Given the description of an element on the screen output the (x, y) to click on. 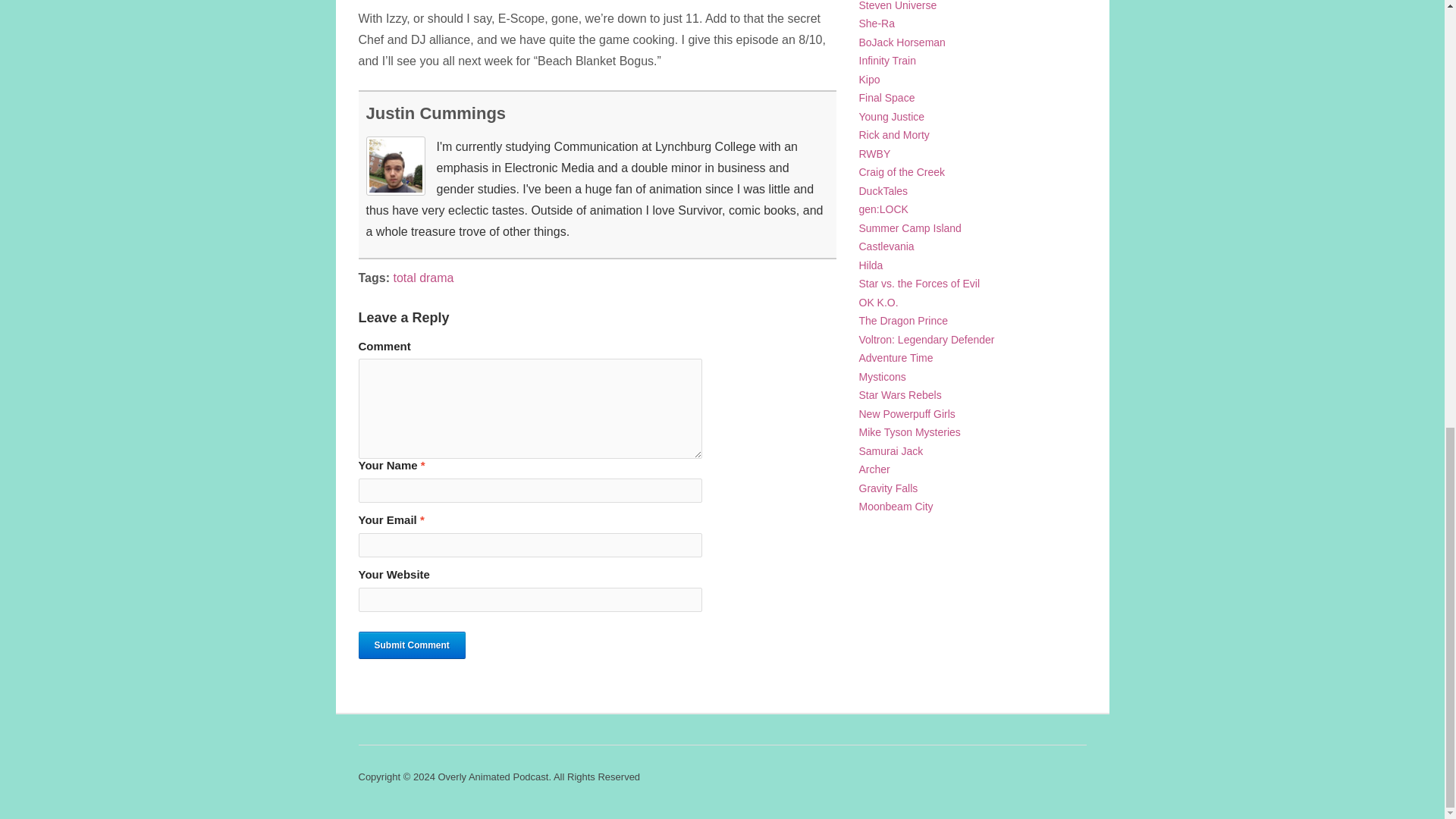
Submit Comment (411, 645)
RWBY (874, 153)
Final Space (886, 97)
All posts by Justin Cummings (435, 113)
Justin Cummings (435, 113)
Infinity Train (887, 60)
Craig of the Creek (901, 172)
Steven Universe (897, 5)
Young Justice (891, 116)
BoJack Horseman (901, 42)
Submit Comment (411, 645)
Kipo (869, 79)
total drama (422, 277)
She-Ra (876, 23)
Rick and Morty (893, 134)
